Given the description of an element on the screen output the (x, y) to click on. 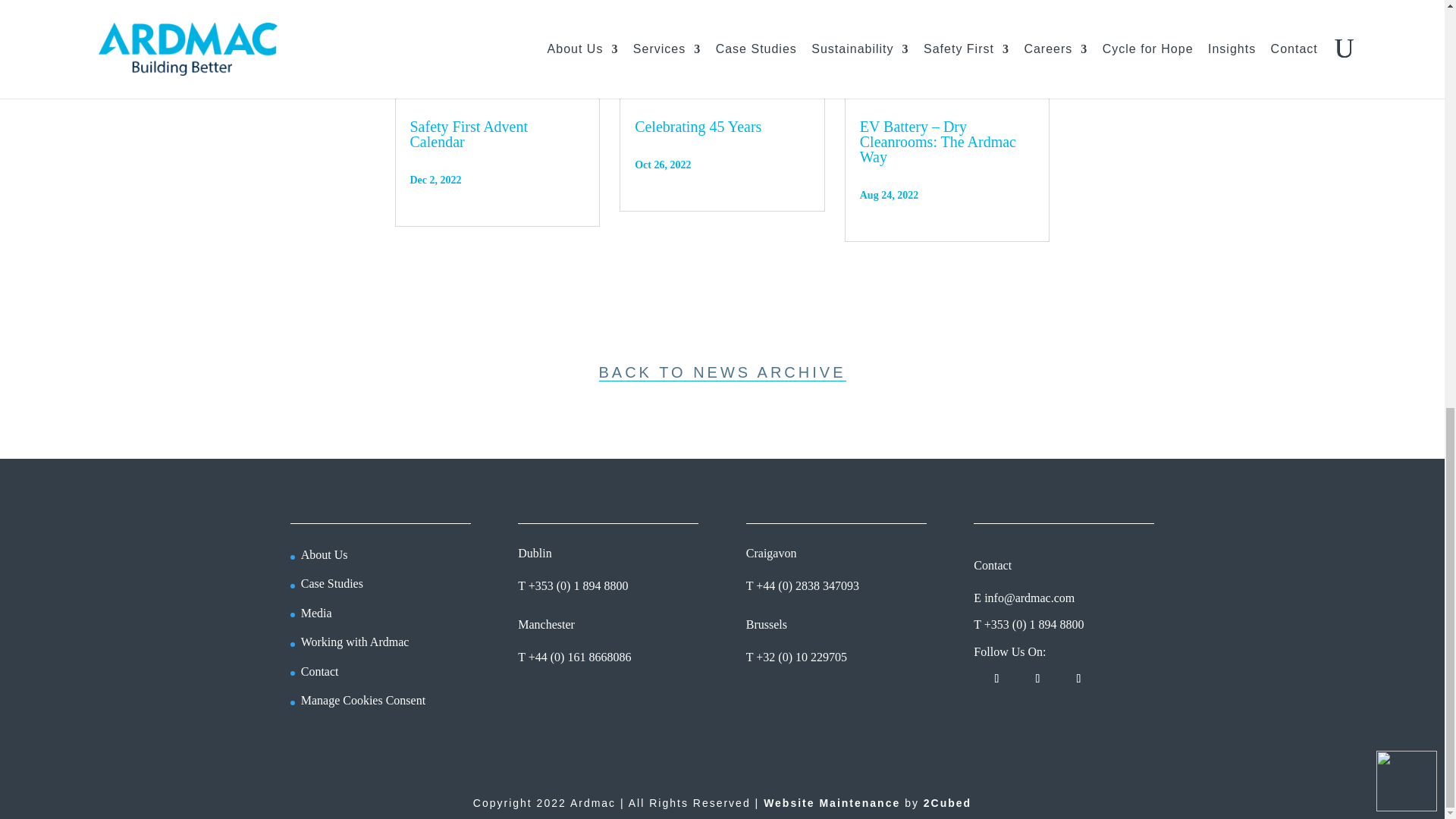
Follow on Twitter (1037, 678)
Safety First Advent Calendar (468, 133)
Back To News Archive (721, 372)
Follow on Instagram (1077, 678)
Follow on LinkedIn (996, 678)
